Given the description of an element on the screen output the (x, y) to click on. 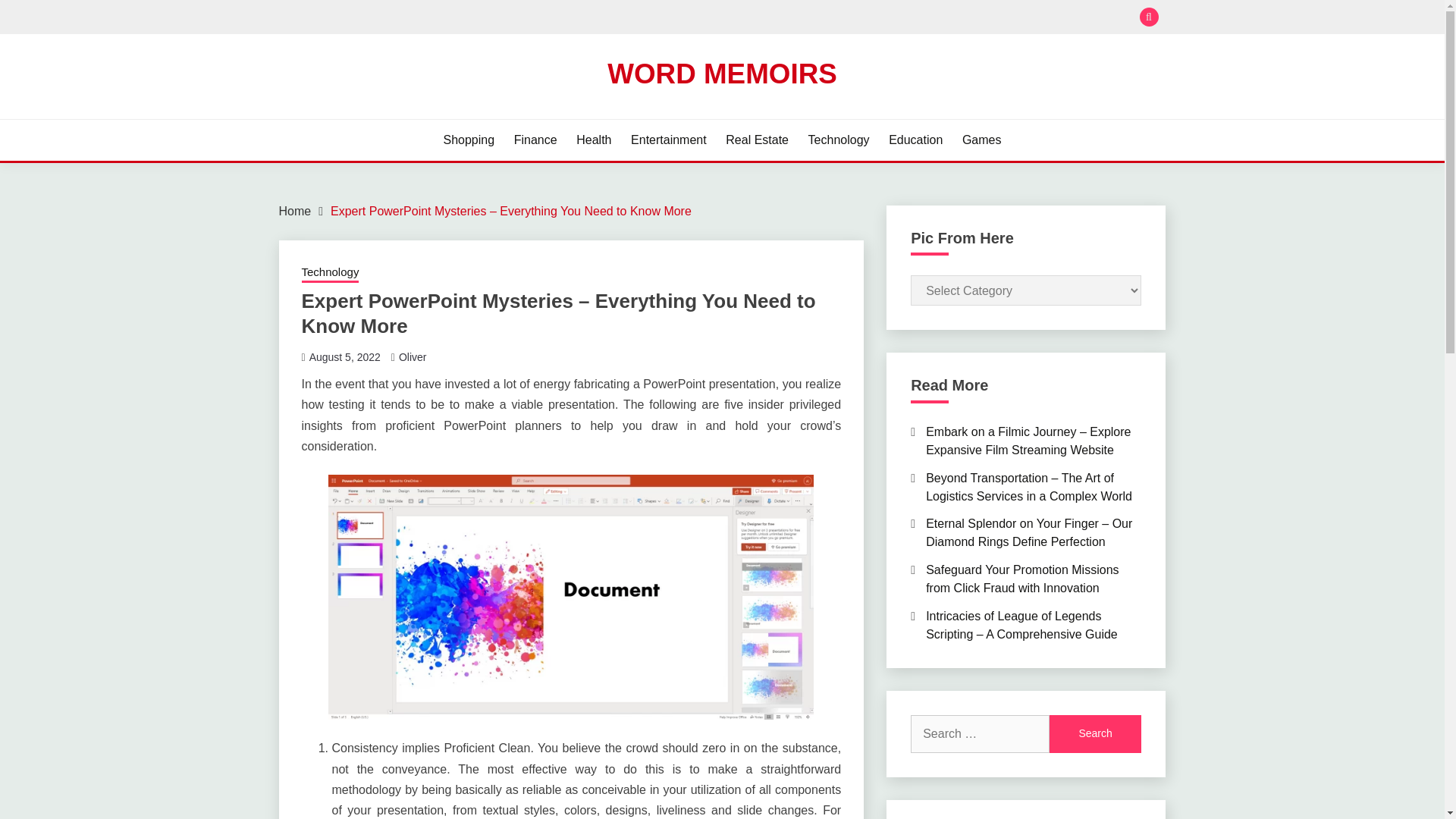
Search (1095, 733)
Technology (838, 140)
Search (832, 18)
Search (1095, 733)
Oliver (412, 357)
Home (295, 210)
Technology (330, 273)
Education (915, 140)
Search (1095, 733)
WORD MEMOIRS (722, 73)
Real Estate (757, 140)
Shopping (468, 140)
Finance (535, 140)
Entertainment (668, 140)
